Given the description of an element on the screen output the (x, y) to click on. 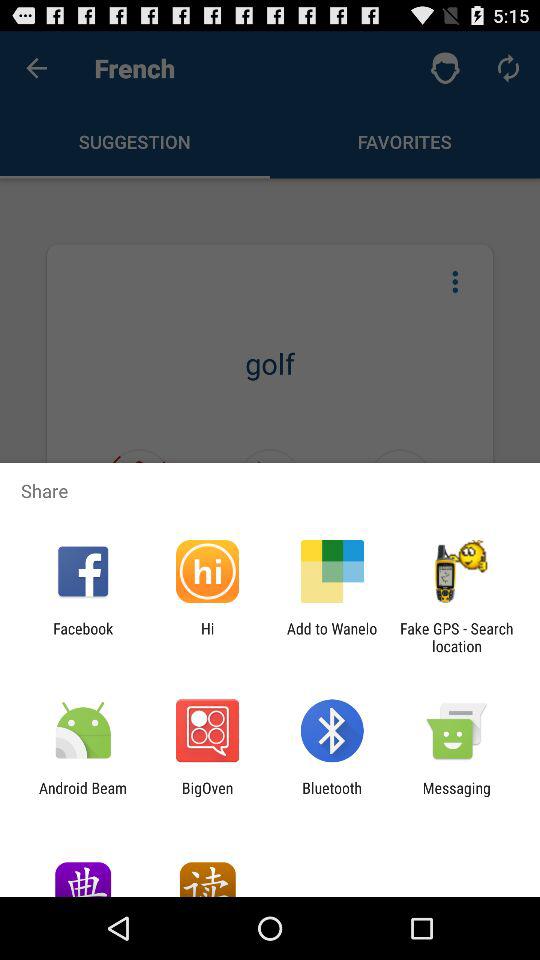
launch the item next to the bluetooth icon (456, 796)
